Given the description of an element on the screen output the (x, y) to click on. 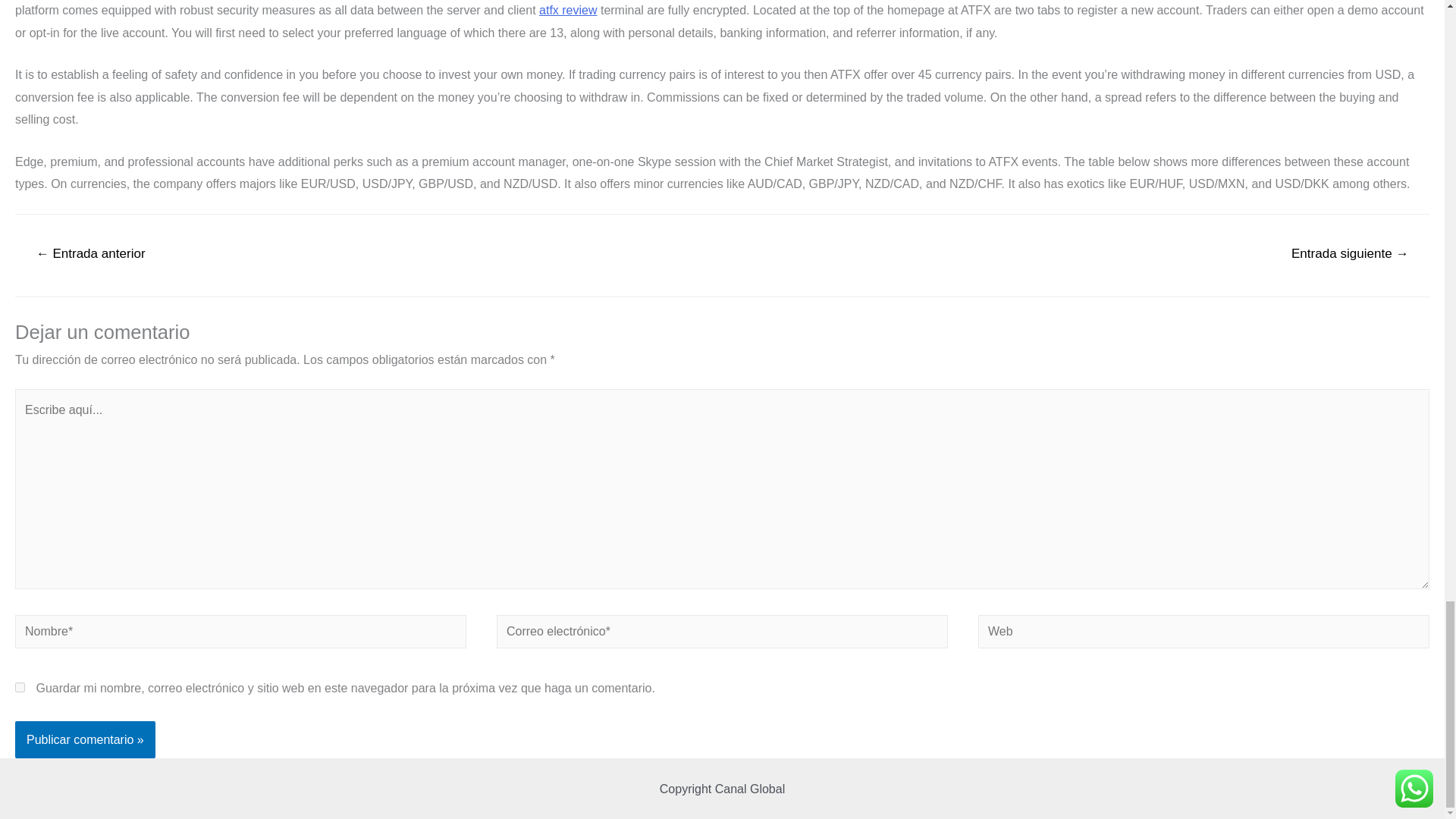
yes (19, 687)
atfx review (567, 10)
